Given the description of an element on the screen output the (x, y) to click on. 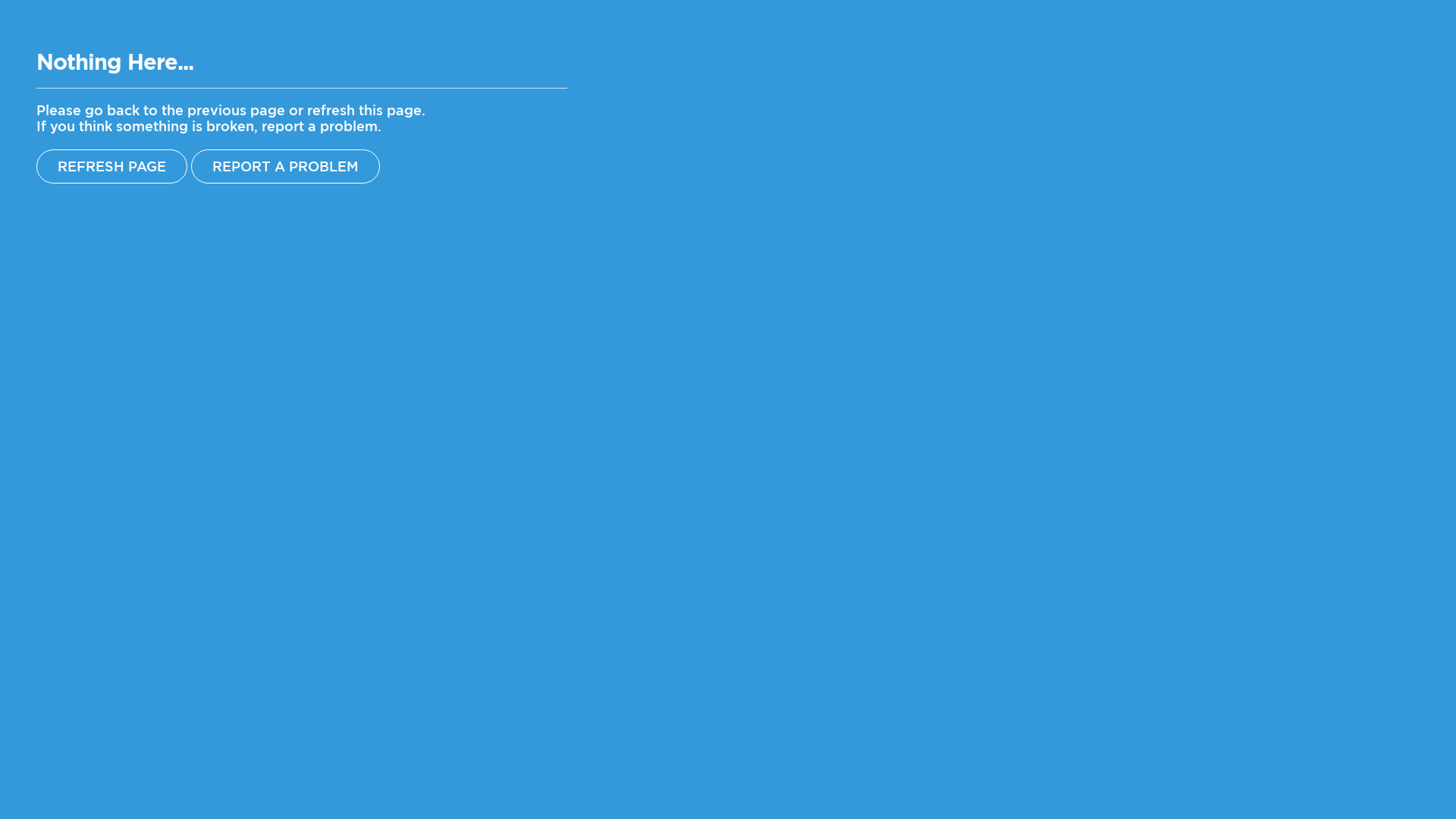
REFRESH PAGE Element type: text (111, 166)
REPORT A PROBLEM Element type: text (285, 166)
